Given the description of an element on the screen output the (x, y) to click on. 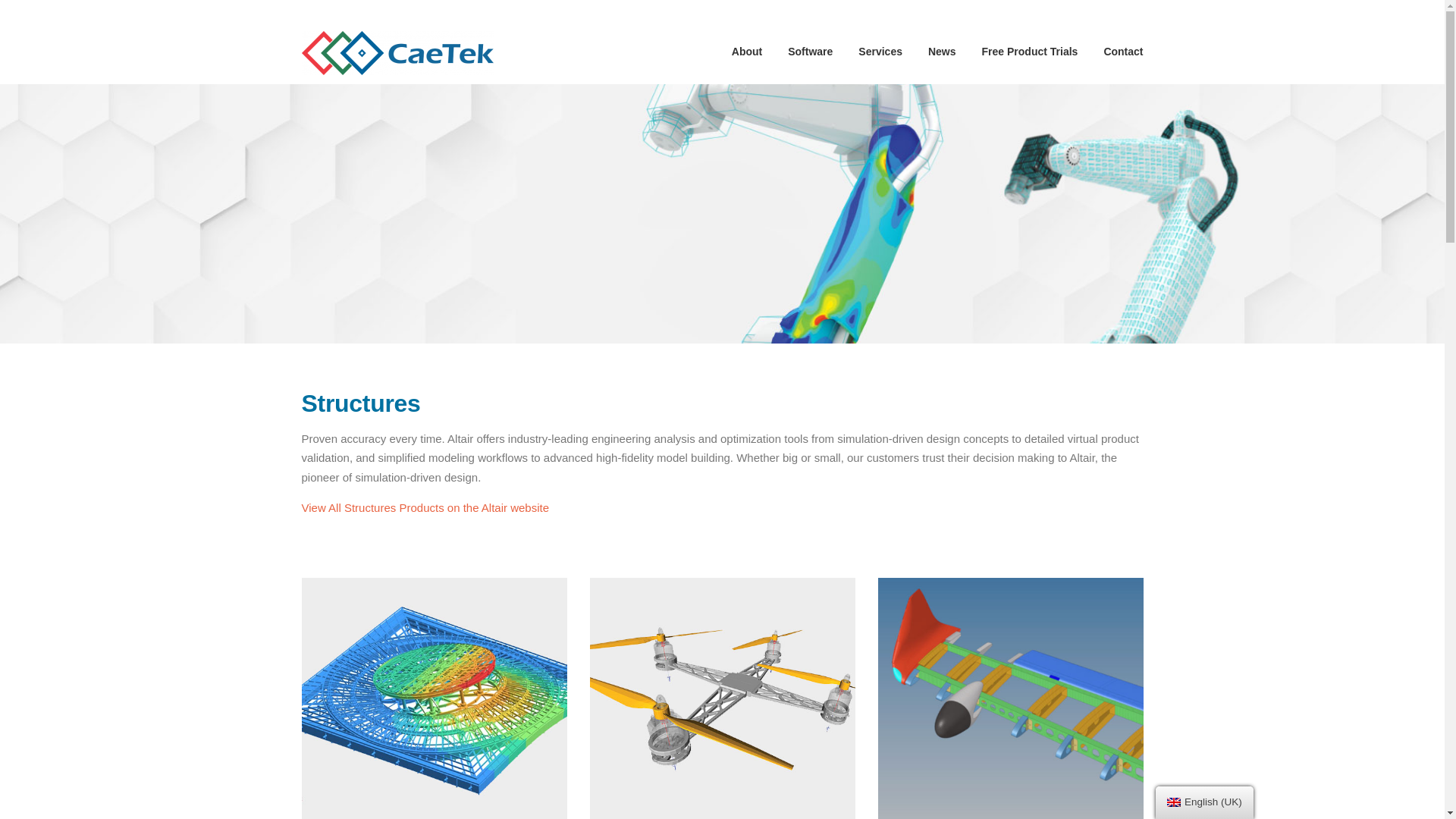
View All Structures Products on the Altair website (425, 507)
Software (809, 51)
Services (880, 51)
Free Product Trials (1029, 51)
